Given the description of an element on the screen output the (x, y) to click on. 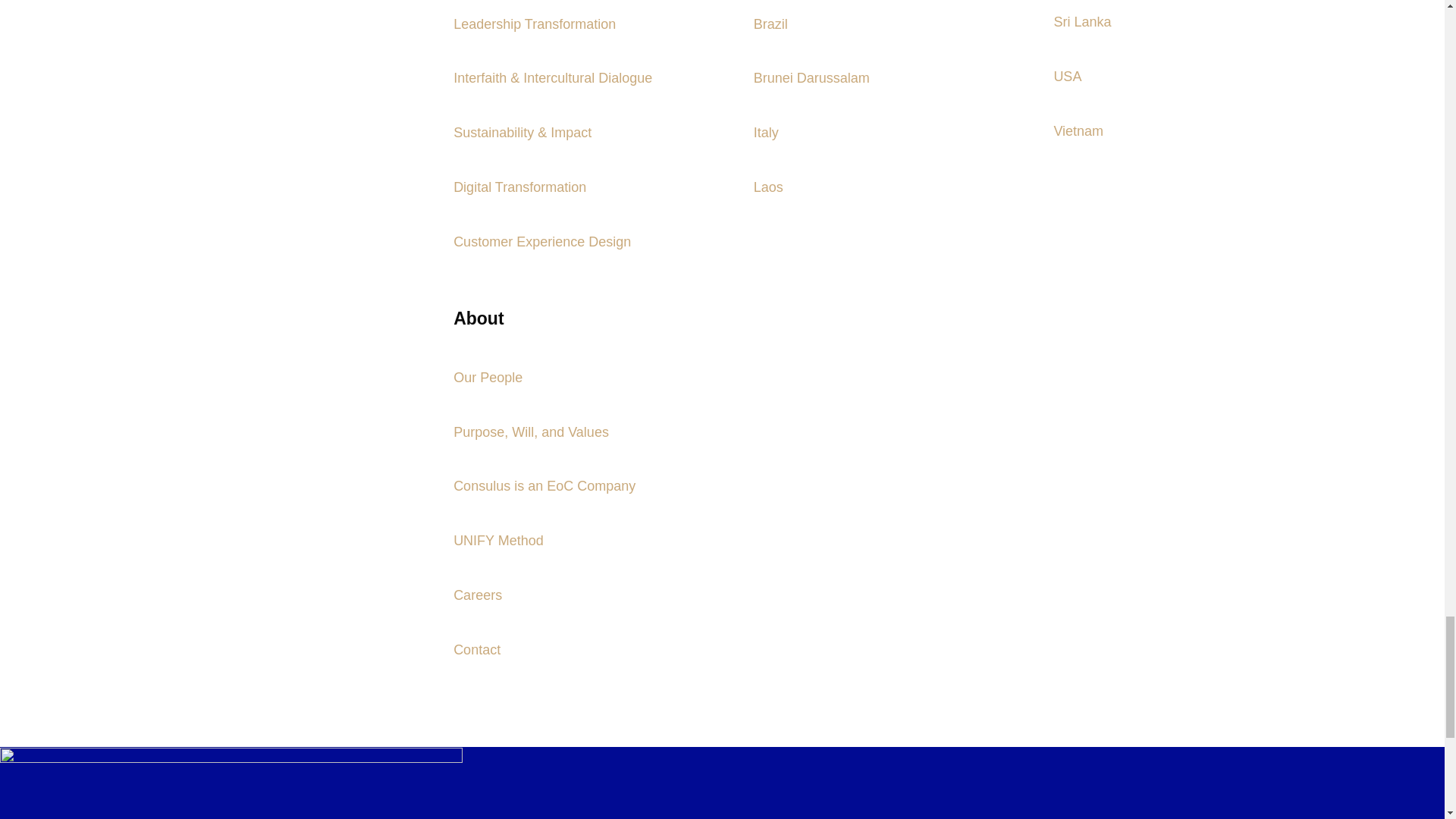
Leadership Transformation (533, 23)
